Given the description of an element on the screen output the (x, y) to click on. 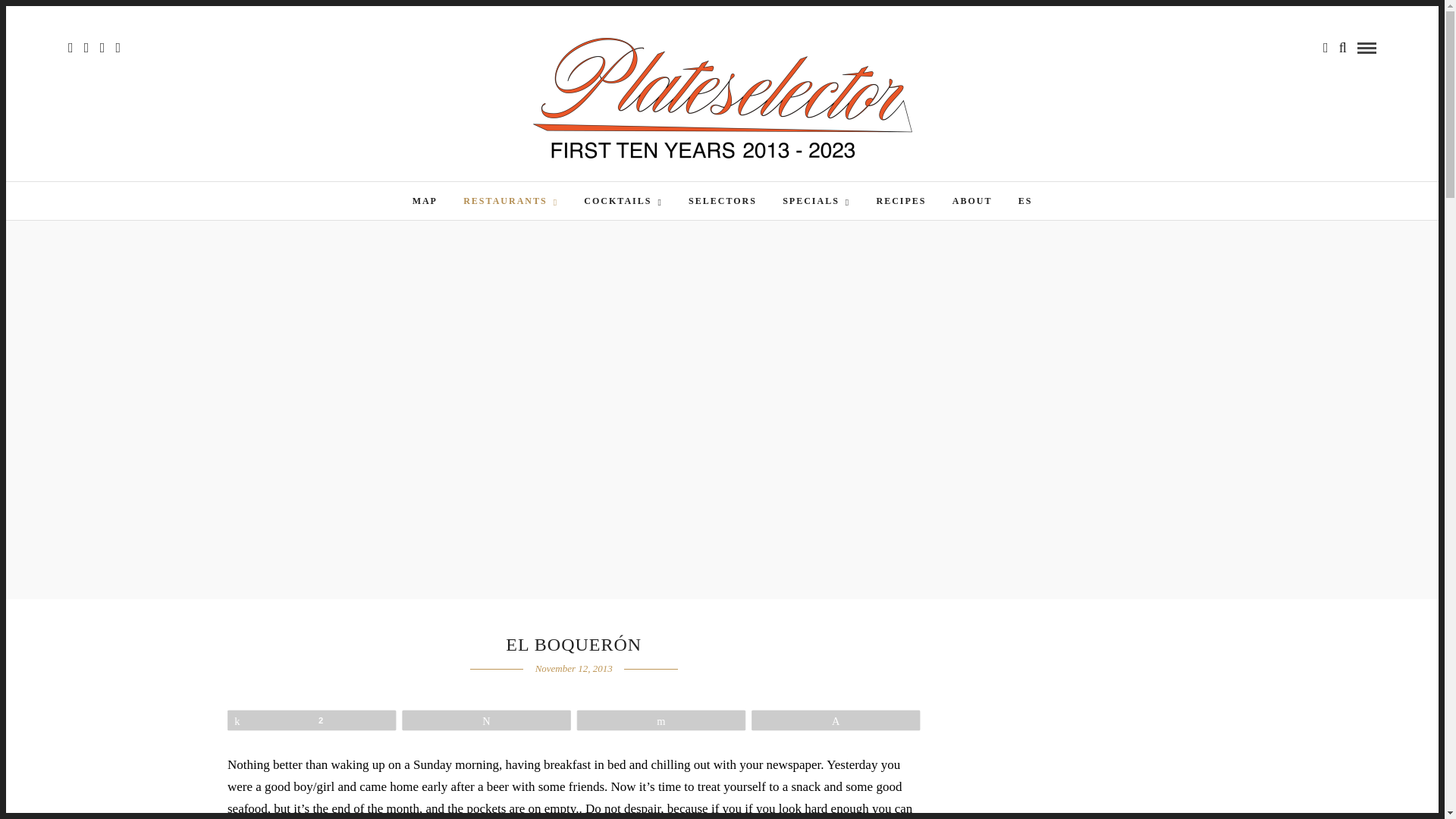
Instagram (117, 47)
Youtube (102, 47)
COCKTAILS (623, 200)
SELECTORS (722, 200)
MAP (424, 200)
RESTAURANTS (510, 200)
SPECIALS (816, 200)
